Given the description of an element on the screen output the (x, y) to click on. 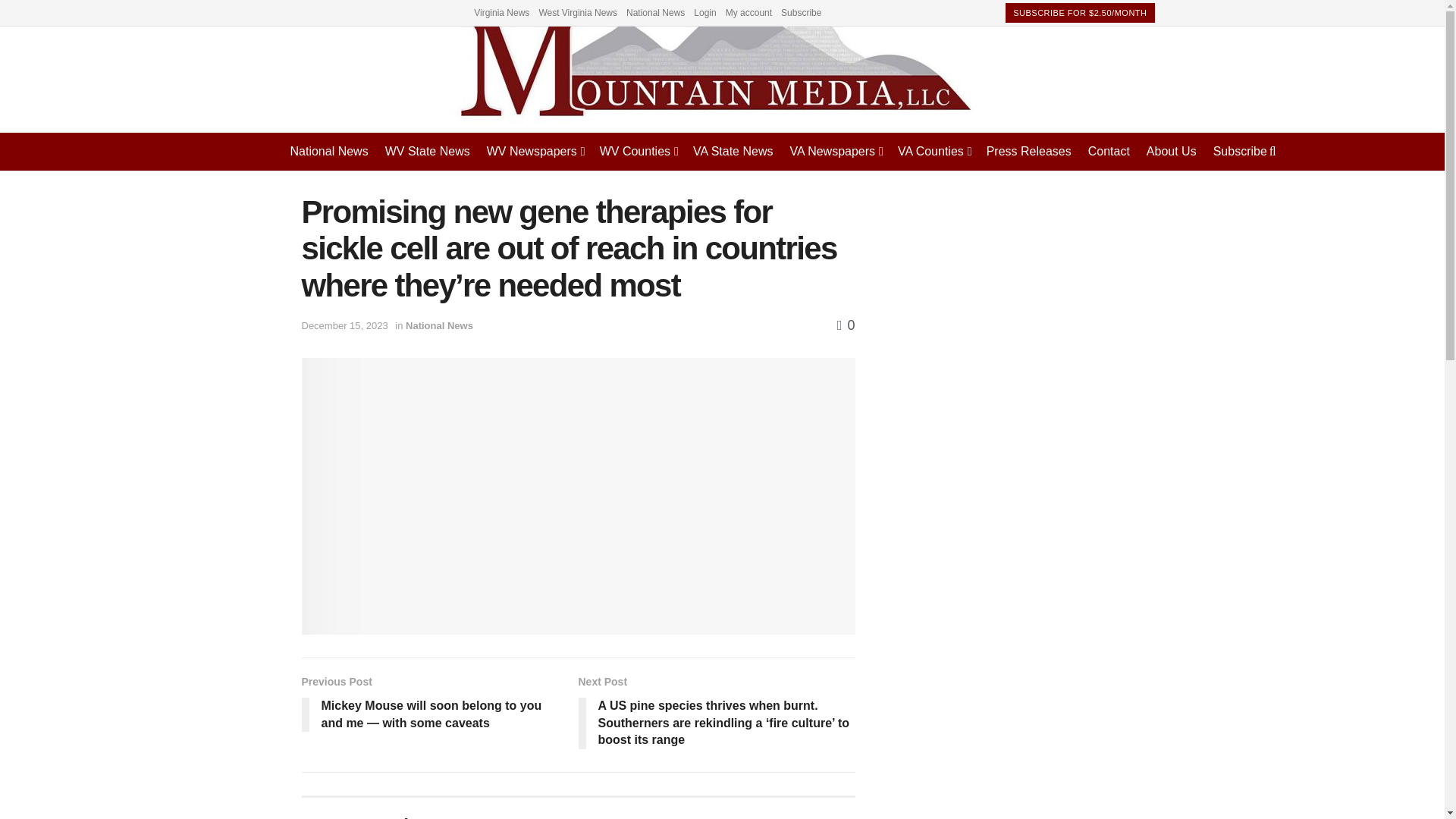
My account (748, 12)
WV Newspapers (534, 151)
VA Counties (933, 151)
VA State News (733, 151)
Subscribe (800, 12)
National News (655, 12)
National News (328, 151)
VA Newspapers (834, 151)
Virginia News (501, 12)
West Virginia News (577, 12)
WV State News (427, 151)
WV Counties (638, 151)
